Given the description of an element on the screen output the (x, y) to click on. 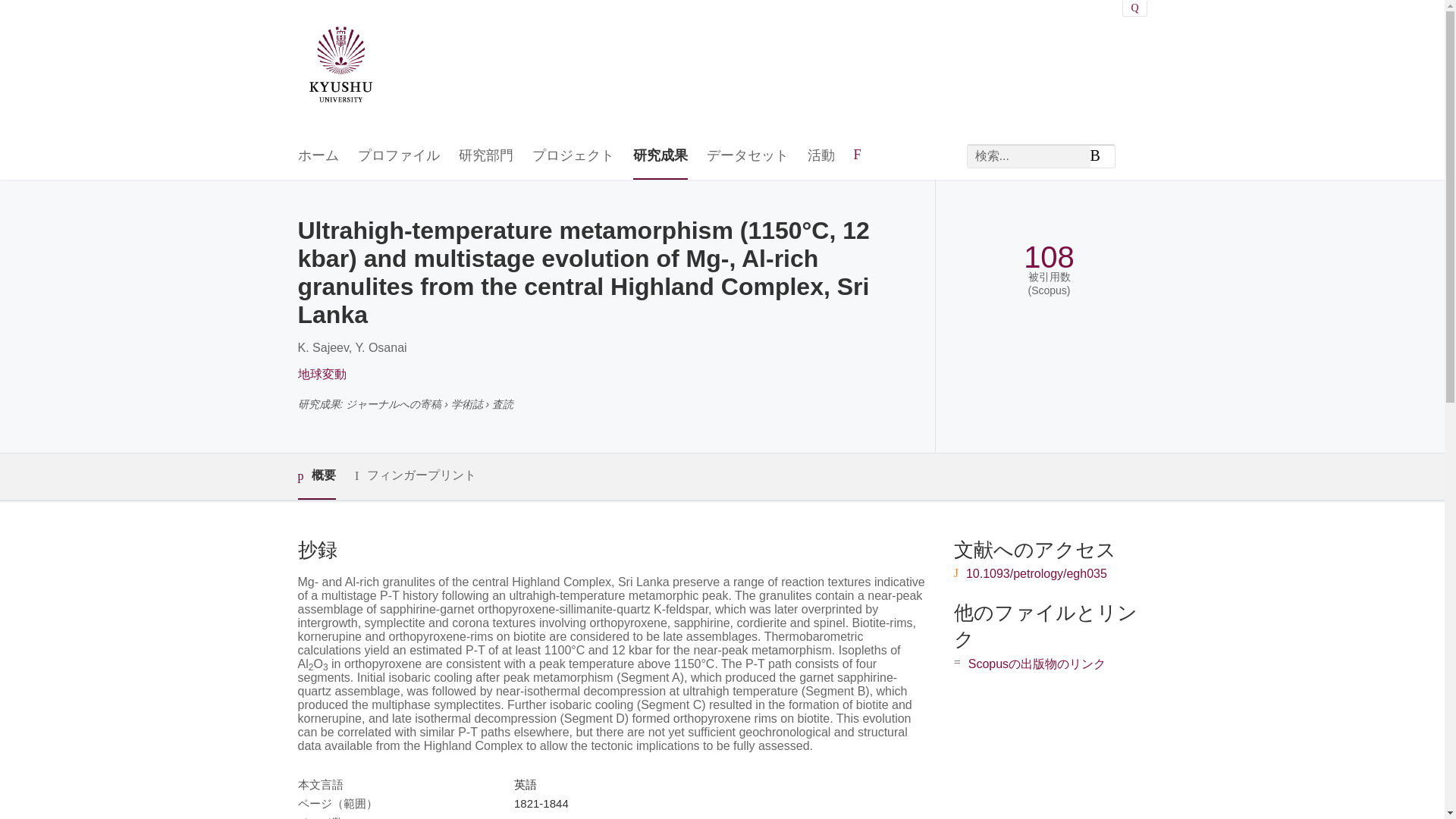
108 (1048, 257)
